Given the description of an element on the screen output the (x, y) to click on. 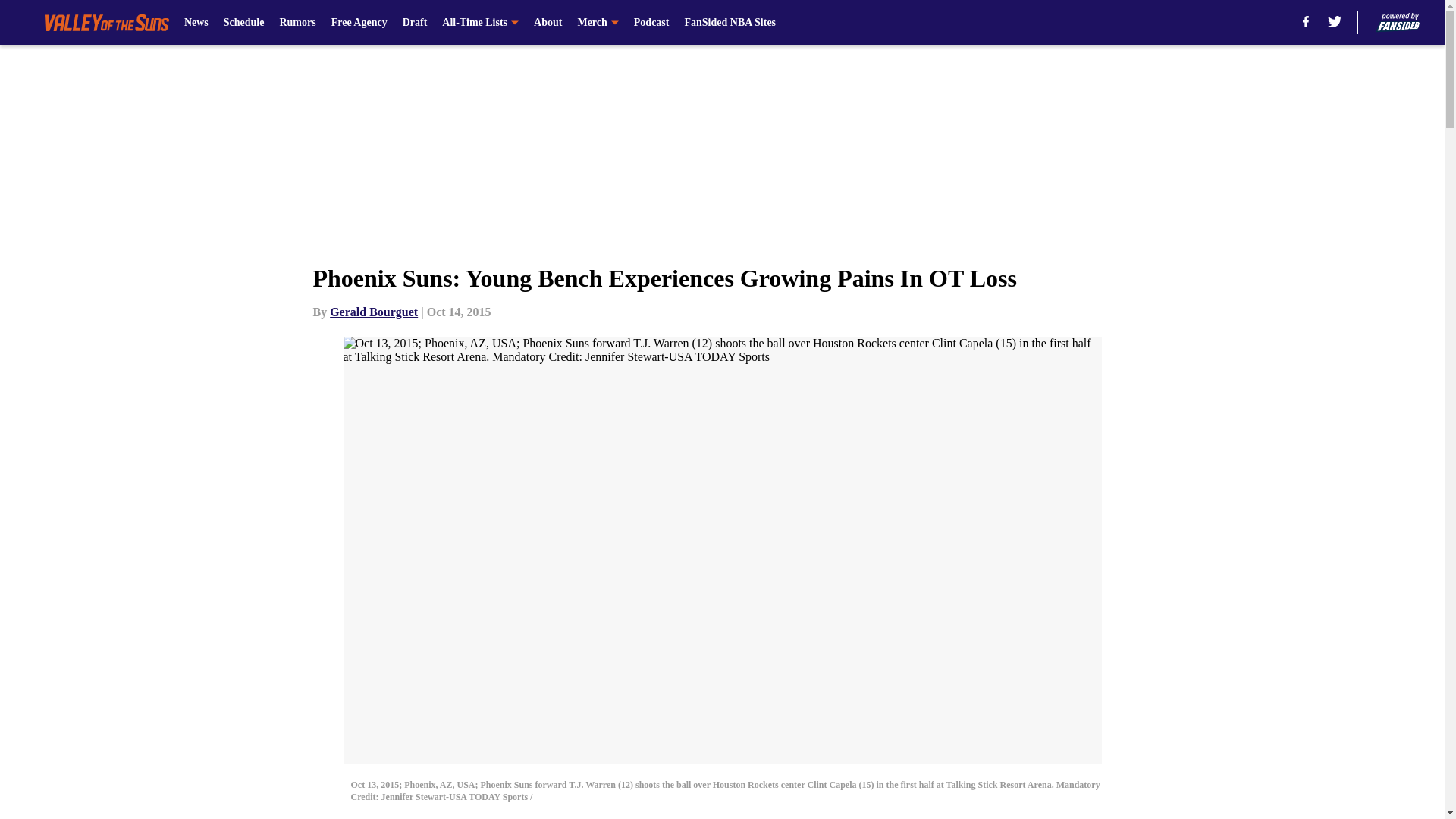
Gerald Bourguet (373, 311)
Merch (596, 22)
Free Agency (359, 22)
About (548, 22)
Podcast (651, 22)
FanSided NBA Sites (730, 22)
All-Time Lists (480, 22)
Rumors (297, 22)
Draft (415, 22)
News (196, 22)
Schedule (244, 22)
